Given the description of an element on the screen output the (x, y) to click on. 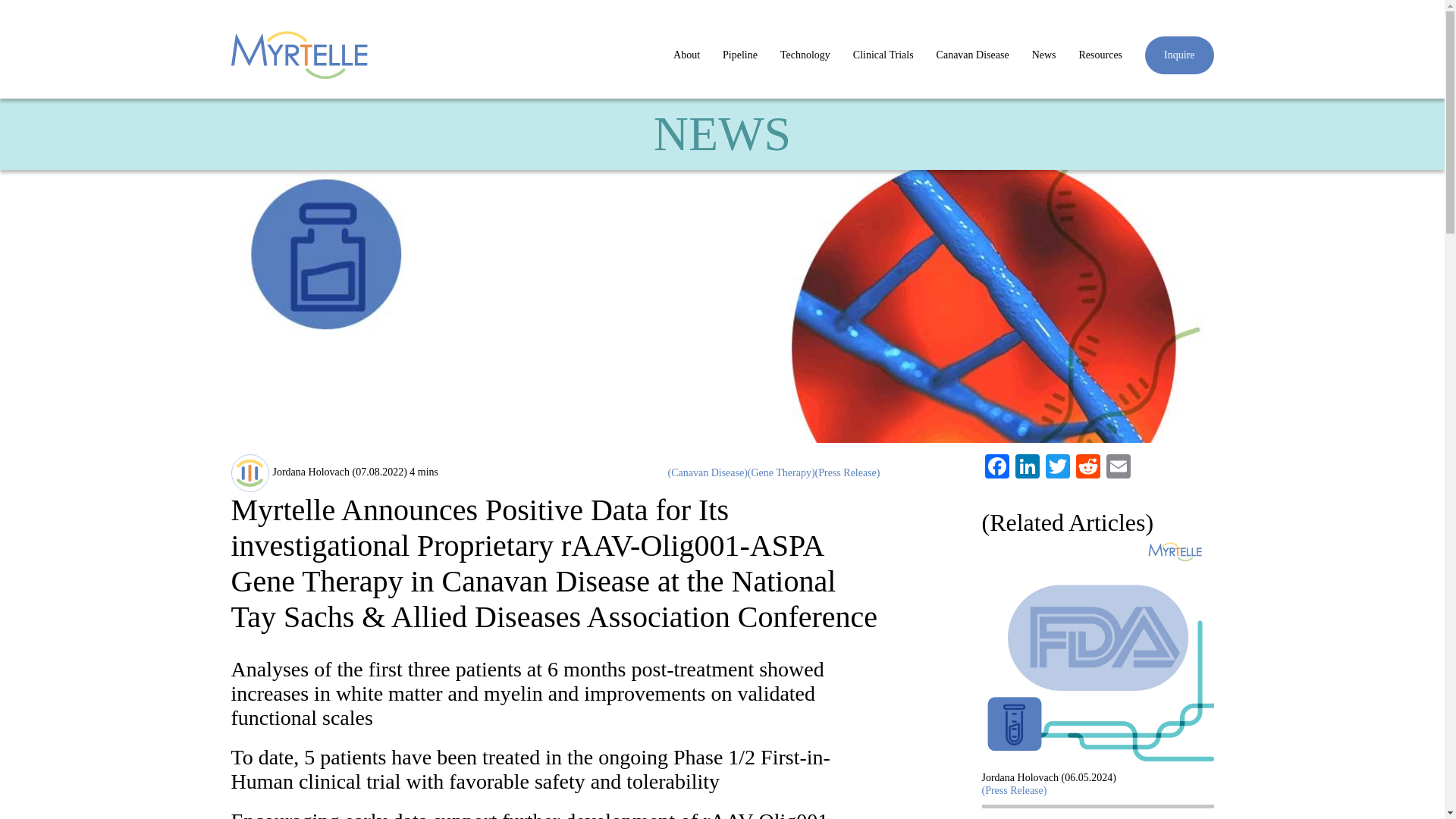
Email (1117, 468)
Reddit (1086, 468)
LinkedIn (1026, 468)
Inquire (1178, 55)
Twitter (1056, 468)
Facebook (996, 468)
Technology (804, 55)
Email (1117, 468)
Resources (1100, 55)
Clinical Trials (883, 55)
Facebook (996, 468)
Pipeline (739, 55)
Canavan Disease (972, 55)
Twitter (1056, 468)
LinkedIn (1026, 468)
